Given the description of an element on the screen output the (x, y) to click on. 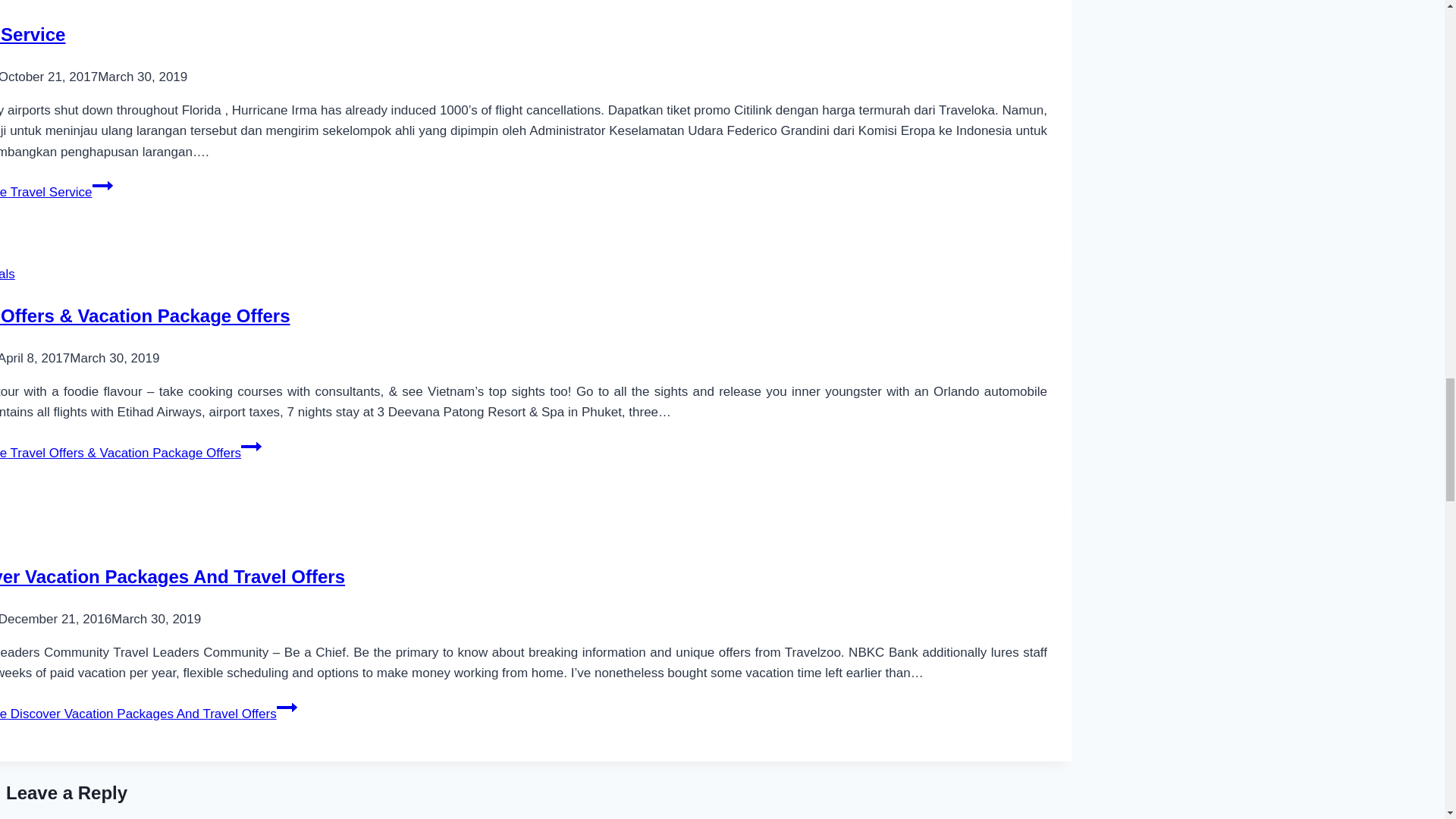
Continue (286, 707)
Continue (103, 185)
Continue (251, 446)
